Given the description of an element on the screen output the (x, y) to click on. 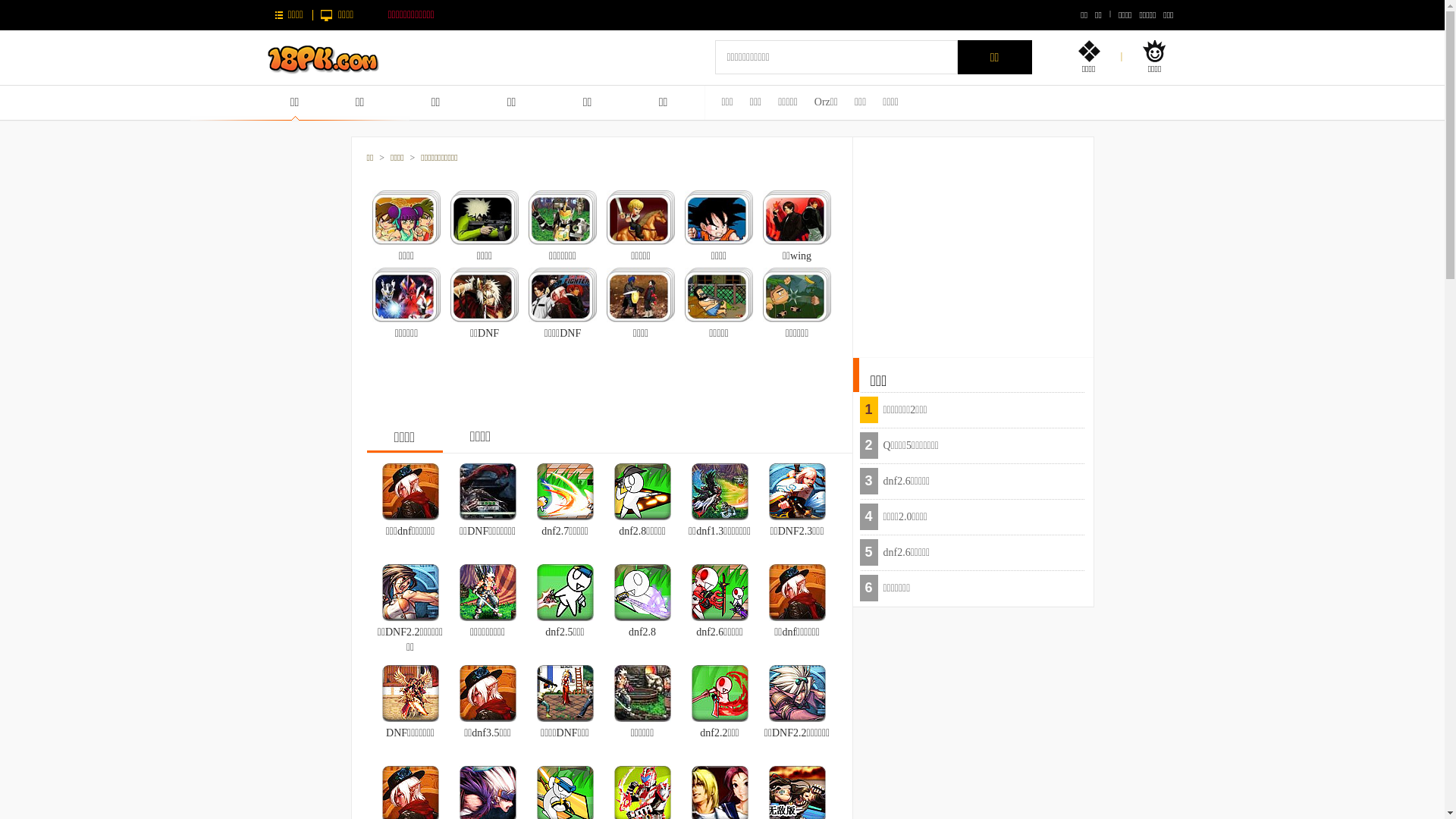
Advertisement Element type: hover (973, 239)
dnf2.8 Element type: text (641, 631)
dnf2.8 Element type: hover (642, 590)
